Given the description of an element on the screen output the (x, y) to click on. 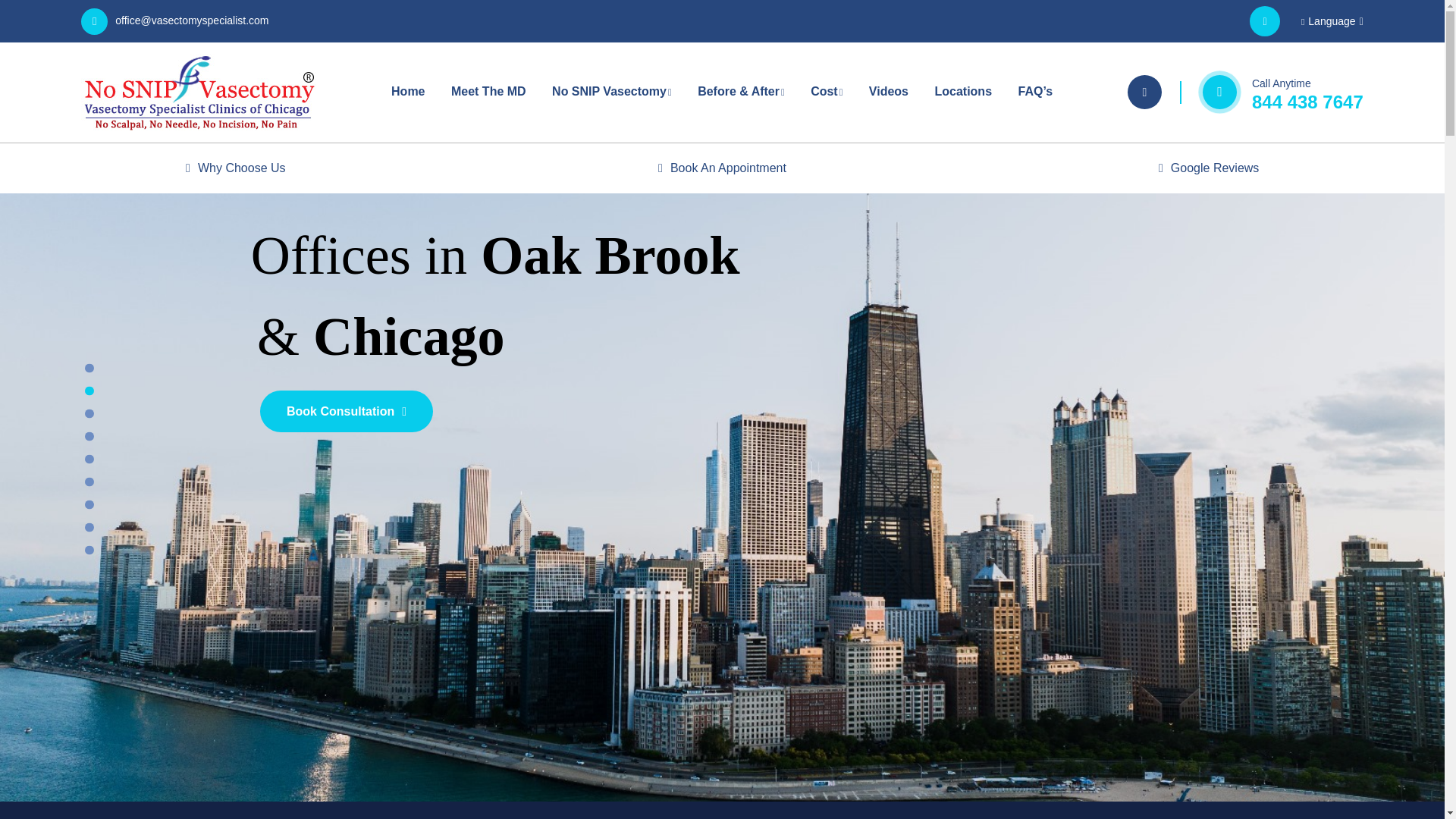
Language (1331, 21)
